Given the description of an element on the screen output the (x, y) to click on. 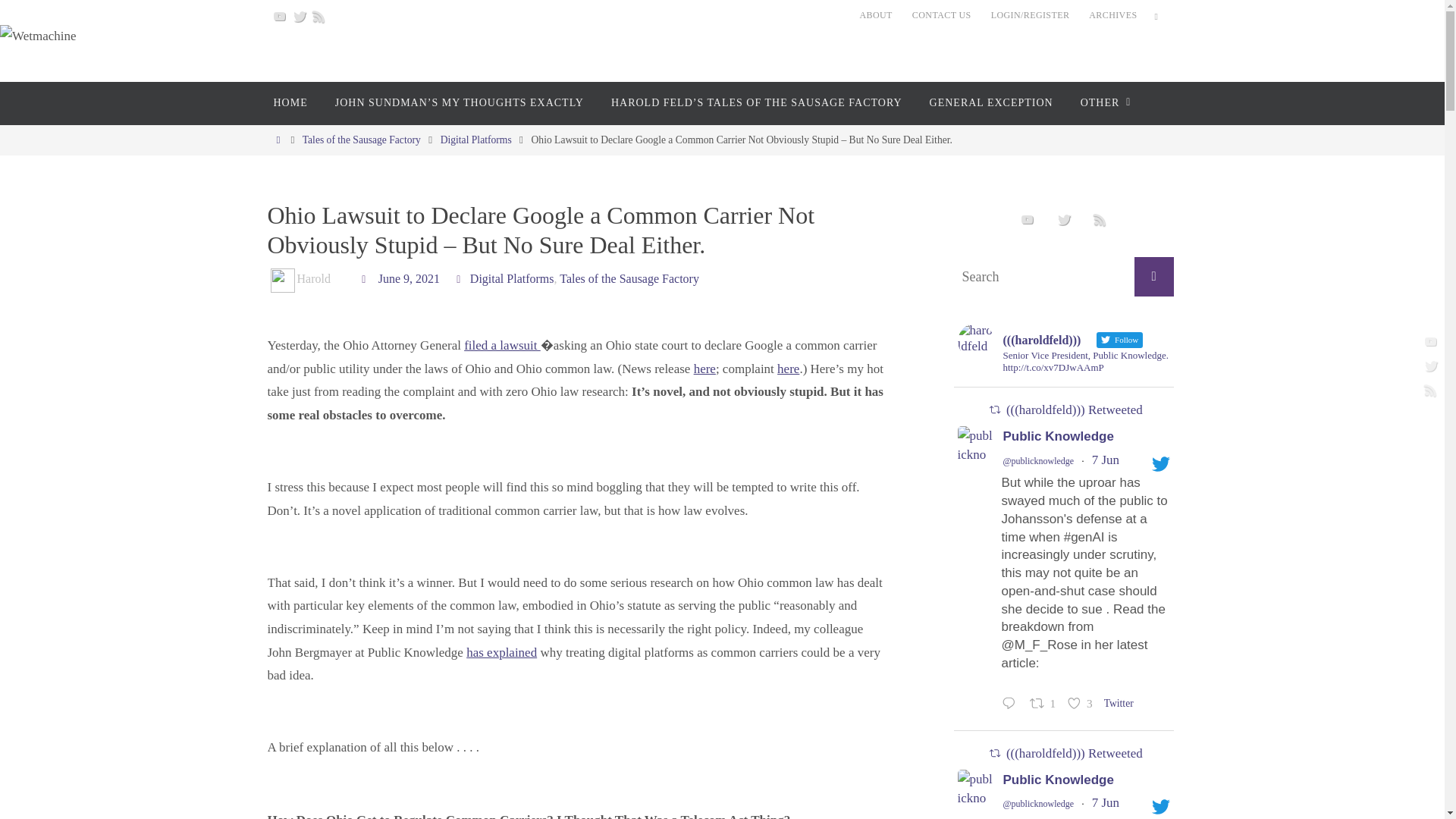
GENERAL EXCEPTION (991, 102)
here (705, 368)
RSS (317, 15)
ABOUT (875, 14)
Twitter (298, 15)
Digital Platforms (512, 278)
Date (365, 278)
Digital Platforms (476, 139)
OTHER (1102, 102)
Tales of the Sausage Factory (628, 278)
